Given the description of an element on the screen output the (x, y) to click on. 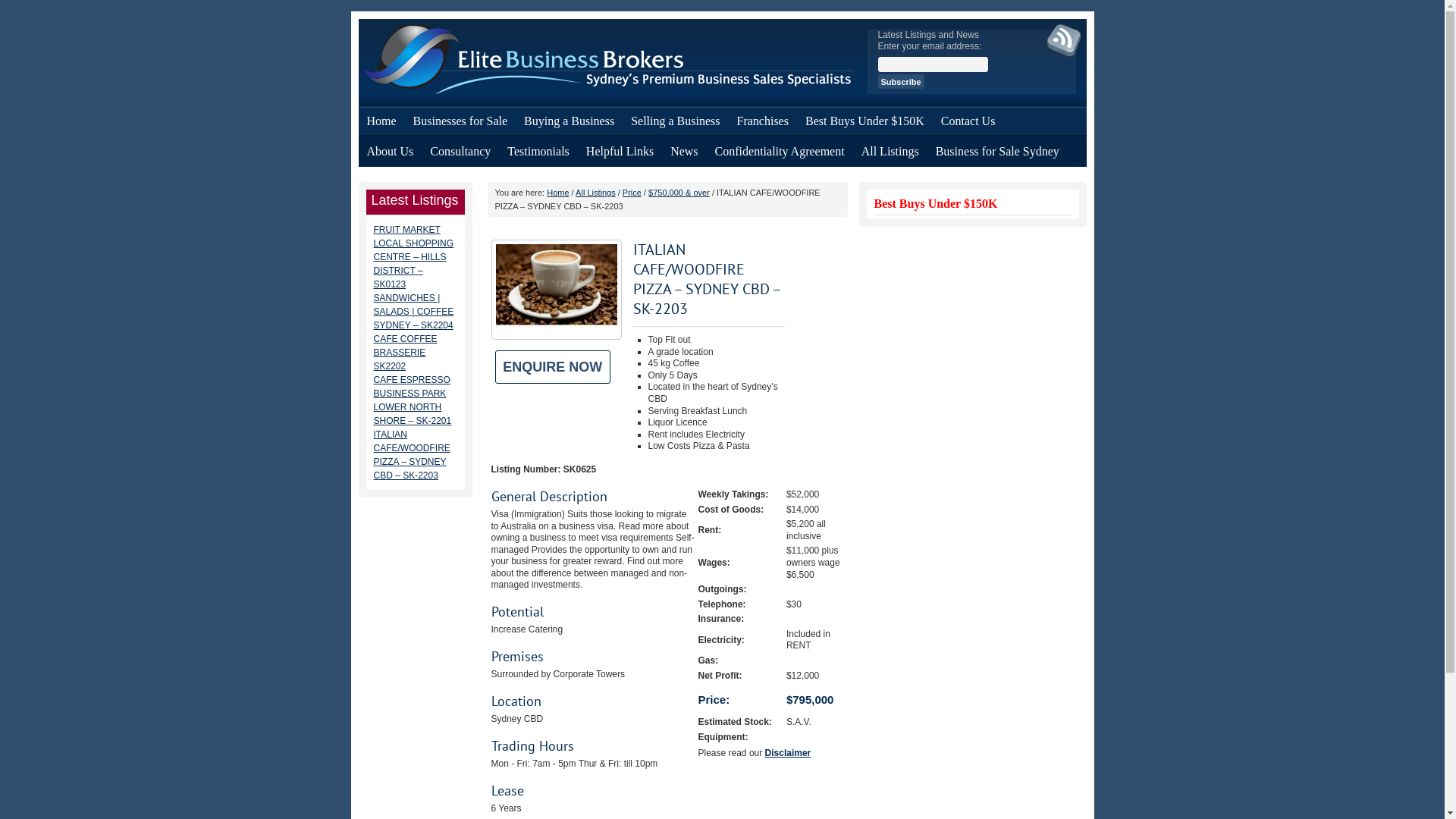
Contact Us Element type: text (968, 121)
Testimonials Element type: text (537, 151)
About Us Element type: text (389, 151)
All Listings Element type: text (890, 151)
Confidentiality Agreement Element type: text (779, 151)
$750,000 & over Element type: text (678, 192)
Consultancy Element type: text (459, 151)
Helpful Links Element type: text (619, 151)
News Element type: text (684, 151)
Buying a Business Element type: text (568, 121)
Price Element type: text (631, 192)
Disclaimer Element type: text (788, 752)
Subscribe Element type: text (901, 81)
All Listings Element type: text (595, 192)
ENQUIRE NOW Element type: text (552, 366)
Best Buys Under $150K Element type: text (864, 121)
Selling a Business Element type: text (675, 121)
Home Element type: text (380, 121)
Franchises Element type: text (762, 121)
Businesses for Sale Element type: text (459, 121)
Business for Sale Sydney Element type: text (997, 151)
CAFE COFFEE BRASSERIE SK2202 Element type: text (404, 352)
Home Element type: text (557, 192)
